Given the description of an element on the screen output the (x, y) to click on. 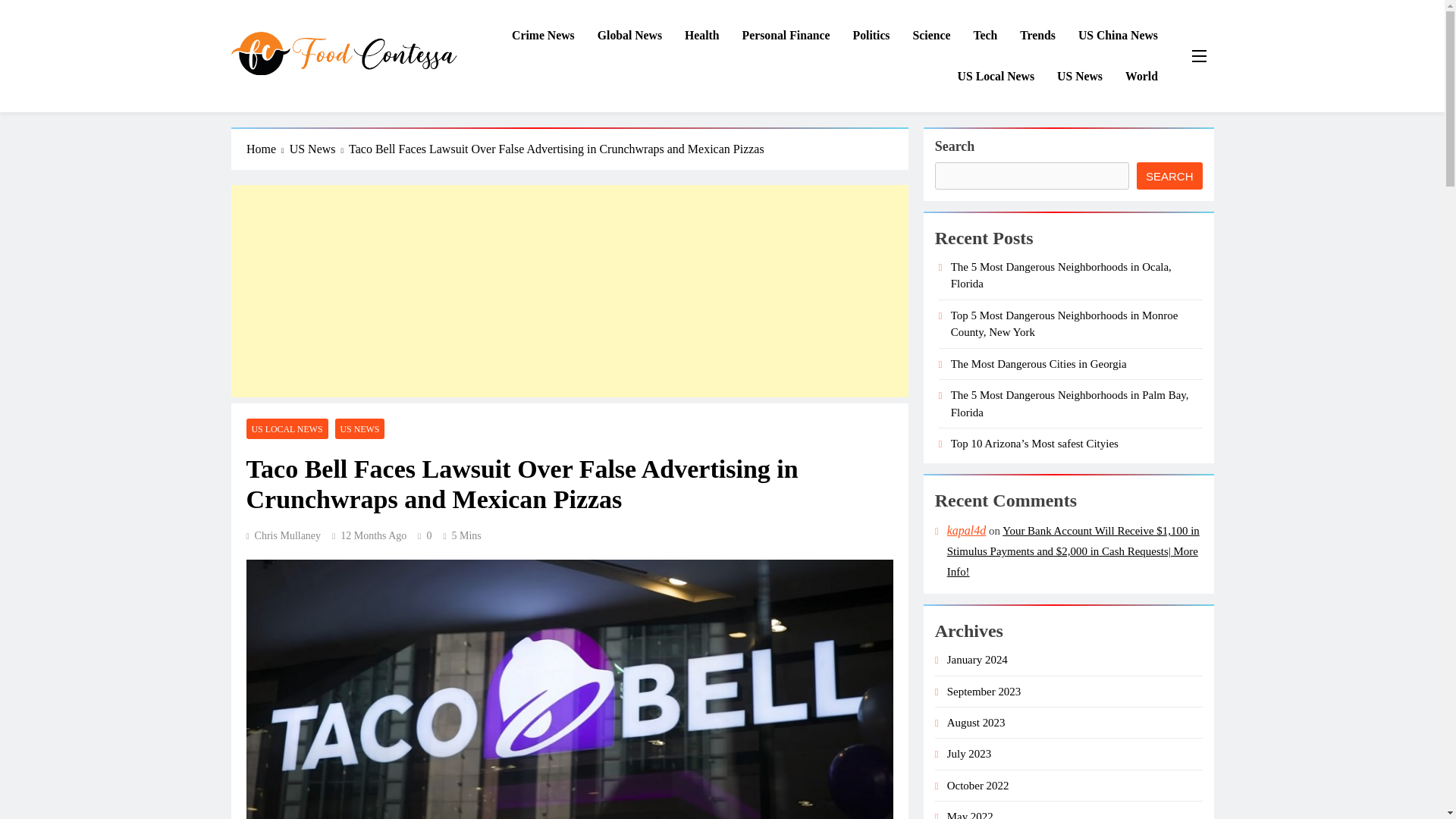
US News (1079, 76)
Health (701, 35)
Science (931, 35)
Personal Finance (785, 35)
Trends (1038, 35)
Food Contessa (304, 96)
Politics (871, 35)
US Local News (996, 76)
Global News (629, 35)
World (1141, 76)
US China News (1118, 35)
Tech (984, 35)
Crime News (543, 35)
